Given the description of an element on the screen output the (x, y) to click on. 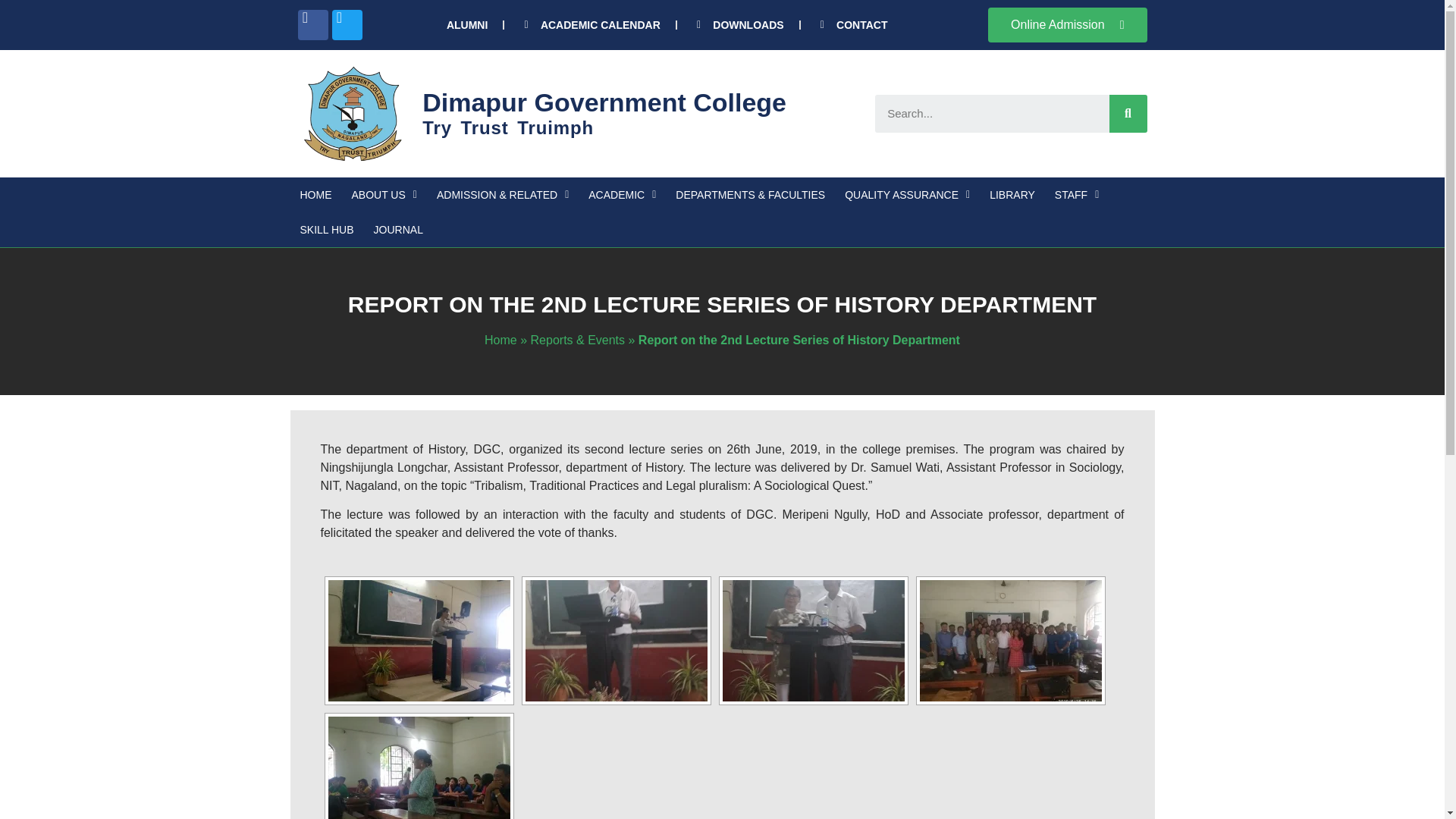
DOWNLOADS (738, 24)
2nd-Lecture-Series-History-26.6-1 (615, 640)
Online Admission (1067, 24)
Search (1127, 113)
Search (992, 113)
2nd-Lecture-Series-History-26.6-2 (813, 640)
ACADEMIC (621, 194)
ALUMNI (466, 24)
ABOUT US (383, 194)
ACADEMIC CALENDAR (589, 24)
CONTACT (851, 24)
2nd-Lecture-Series-History-26.6-4 (418, 767)
HOME (314, 194)
2nd-Lecture-Series-History-26.6-3 (1009, 640)
2nd-Lecture-Series-History-26.6-5 (418, 640)
